Given the description of an element on the screen output the (x, y) to click on. 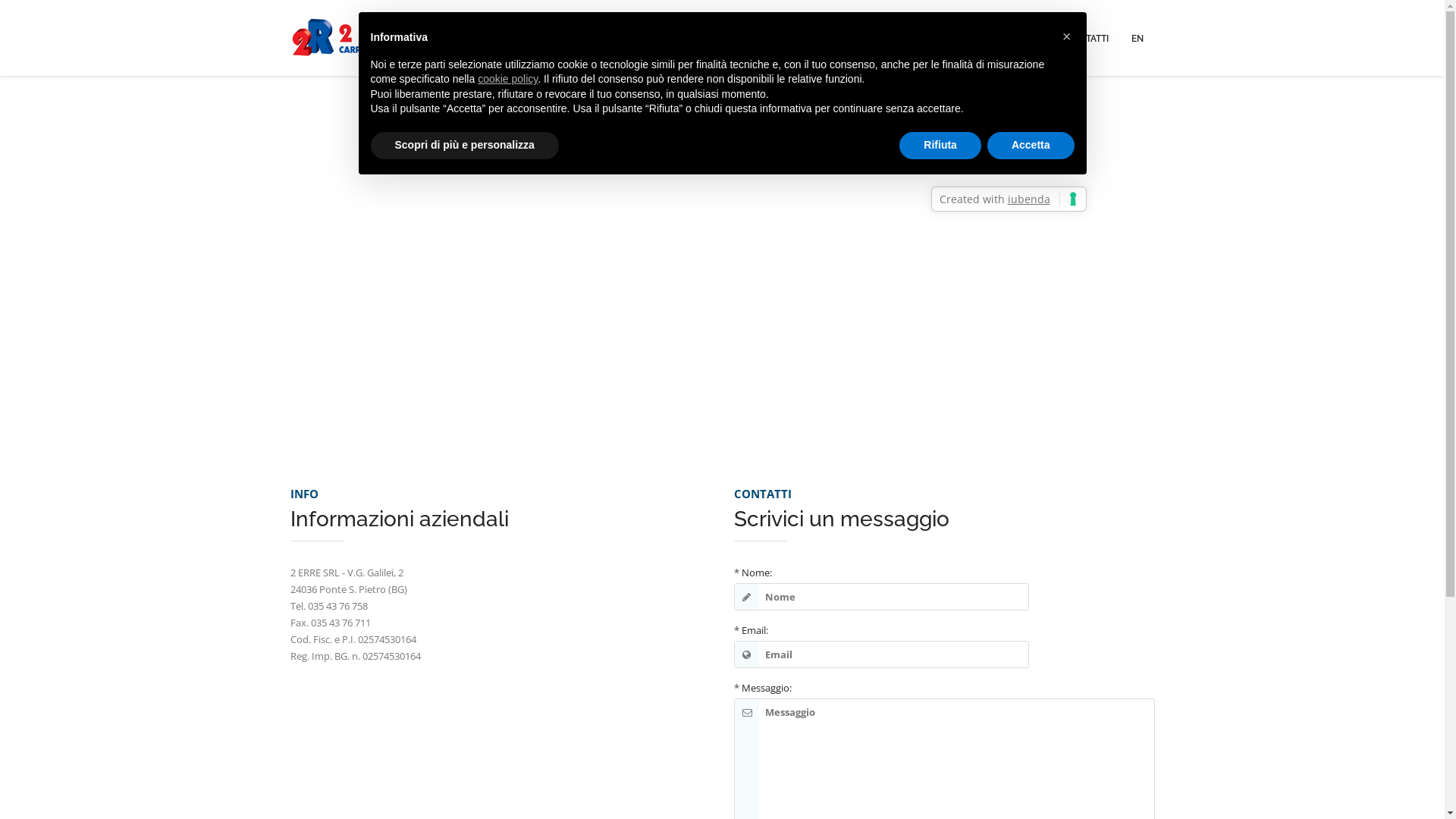
AZIENDA Element type: text (909, 37)
cookie policy Element type: text (507, 78)
CONTATTI Element type: text (1086, 37)
Rifiuta Element type: text (940, 145)
Accetta Element type: text (1030, 145)
Created with iubenda Element type: text (1008, 199)
REPARTI PRODUTTIVI Element type: text (997, 37)
EN Element type: text (1136, 37)
HOME Element type: text (853, 37)
